Given the description of an element on the screen output the (x, y) to click on. 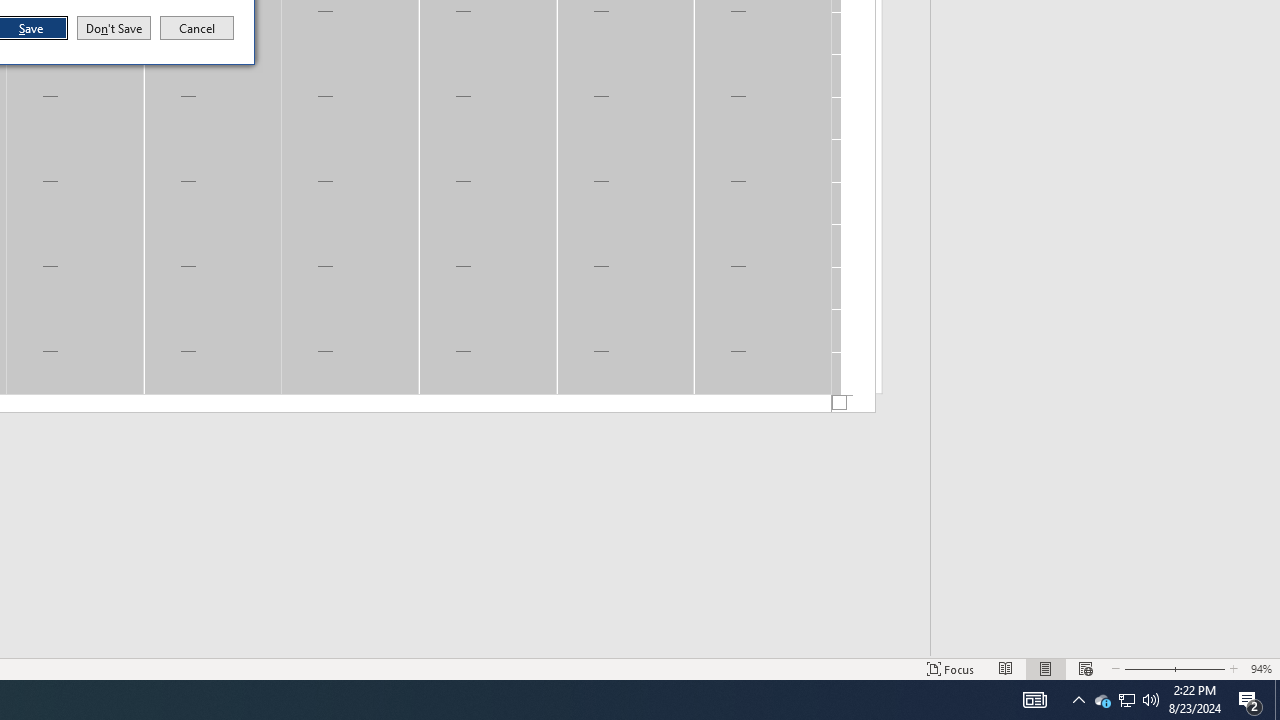
User Promoted Notification Area (1126, 699)
Zoom Out (1147, 668)
Focus  (951, 668)
Q2790: 100% (1151, 699)
Print Layout (1046, 668)
Cancel (1102, 699)
Don't Save (197, 27)
Notification Chevron (113, 27)
Action Center, 2 new notifications (1078, 699)
Show desktop (1250, 699)
